Given the description of an element on the screen output the (x, y) to click on. 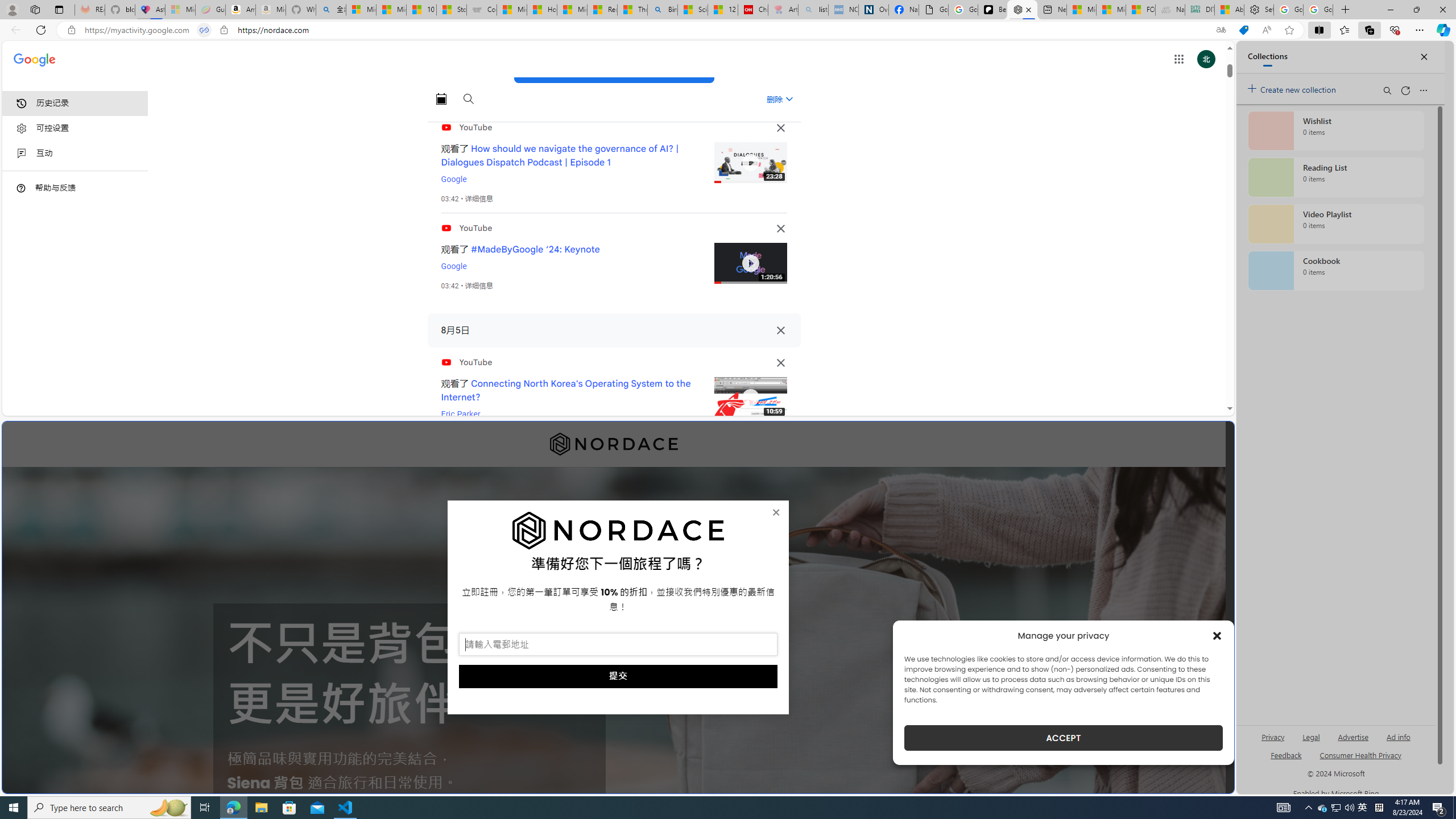
This site has coupons! Shopping in Microsoft Edge (1243, 29)
Class: i2GIId (21, 153)
AutomationID: input_5_1 (617, 644)
